Given the description of an element on the screen output the (x, y) to click on. 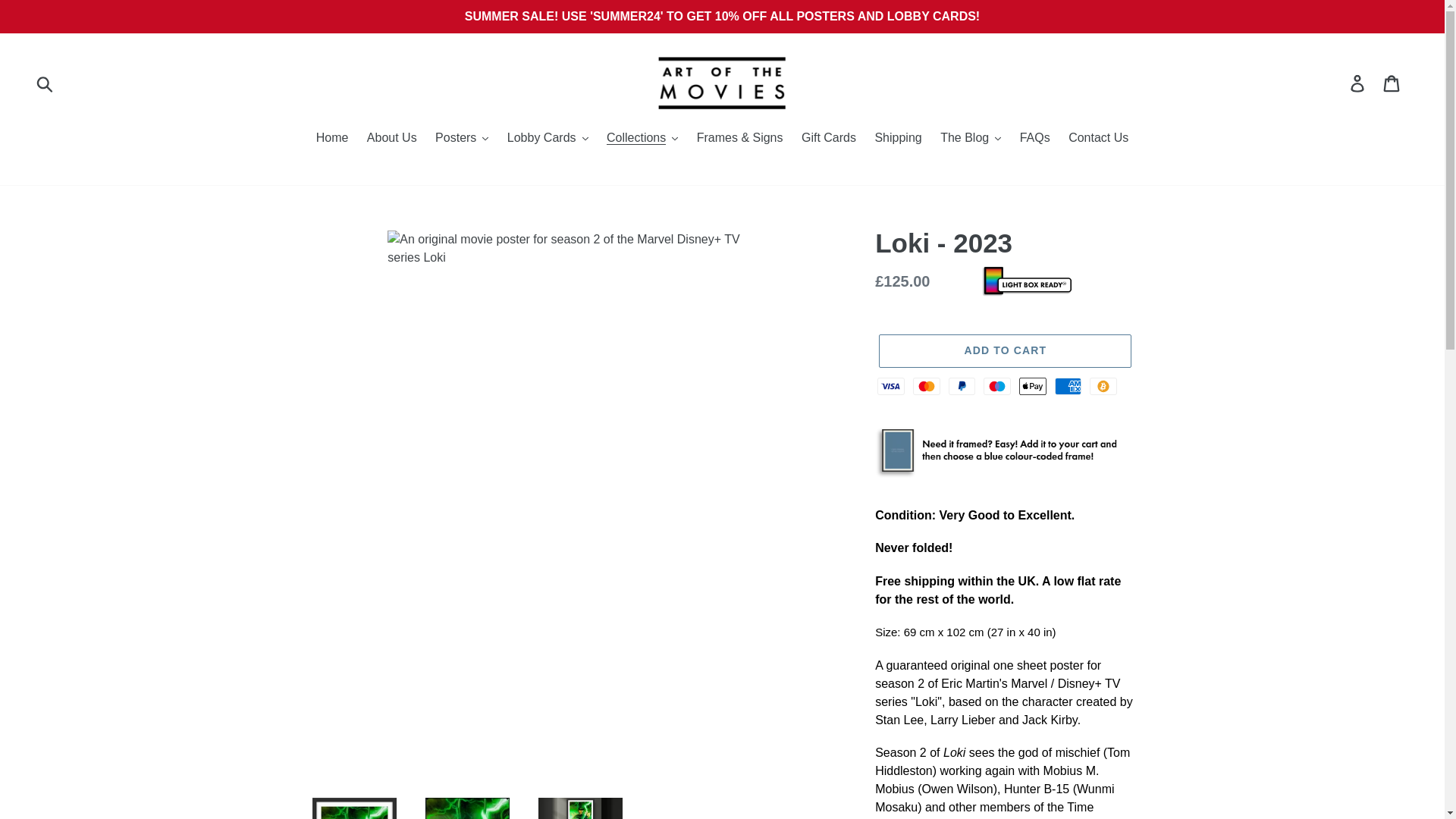
Log in (1357, 82)
Submit (45, 82)
Cart (1392, 82)
